Given the description of an element on the screen output the (x, y) to click on. 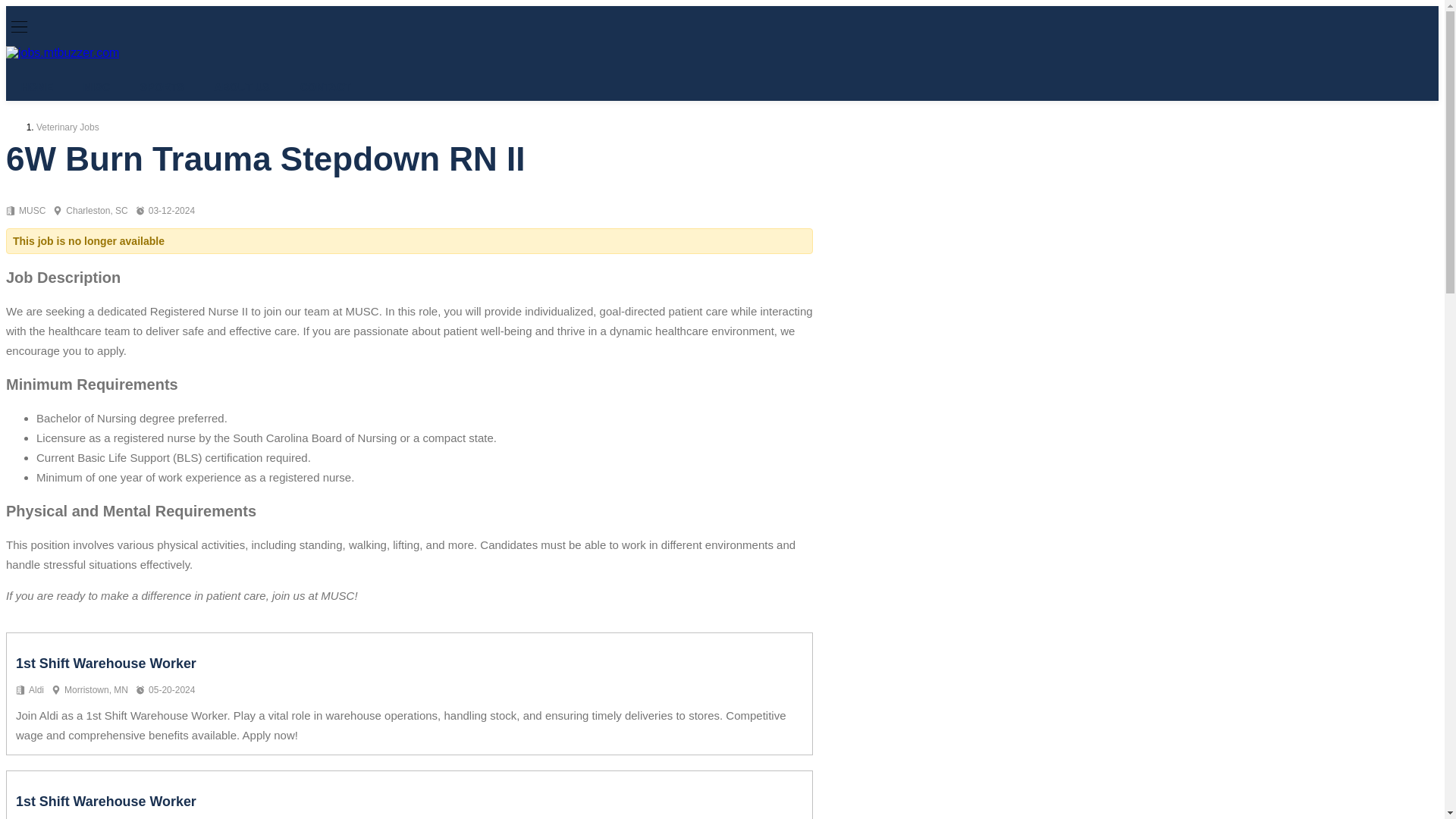
MISC (96, 87)
HOME (36, 87)
ABOUT US (241, 87)
1st Shift Warehouse Worker (106, 663)
SPORTS (161, 87)
1st Shift Warehouse Worker (106, 801)
CONTACT (324, 87)
Veterinary Jobs (67, 127)
